Given the description of an element on the screen output the (x, y) to click on. 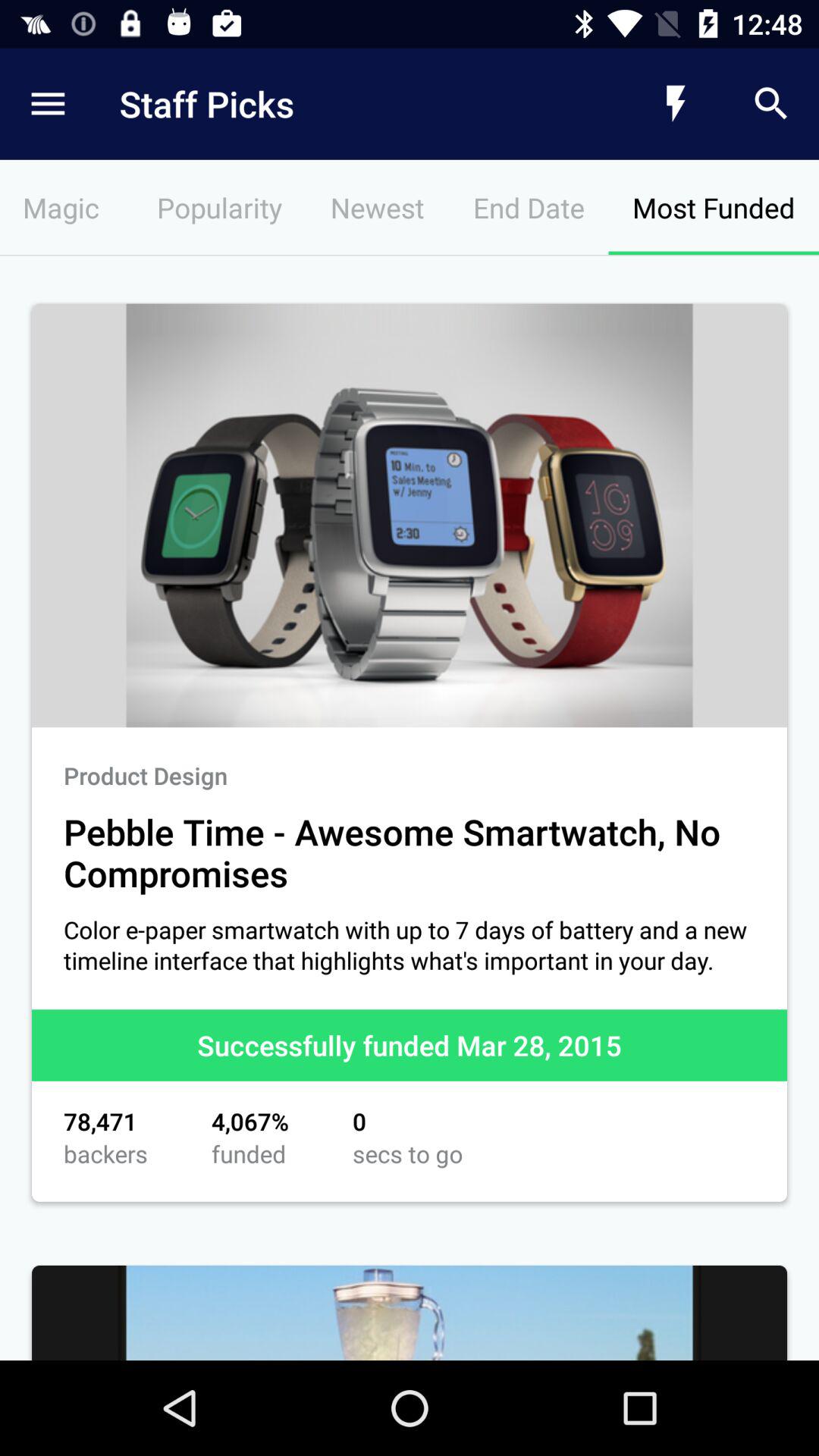
turn on the item above the magic (345, 103)
